Given the description of an element on the screen output the (x, y) to click on. 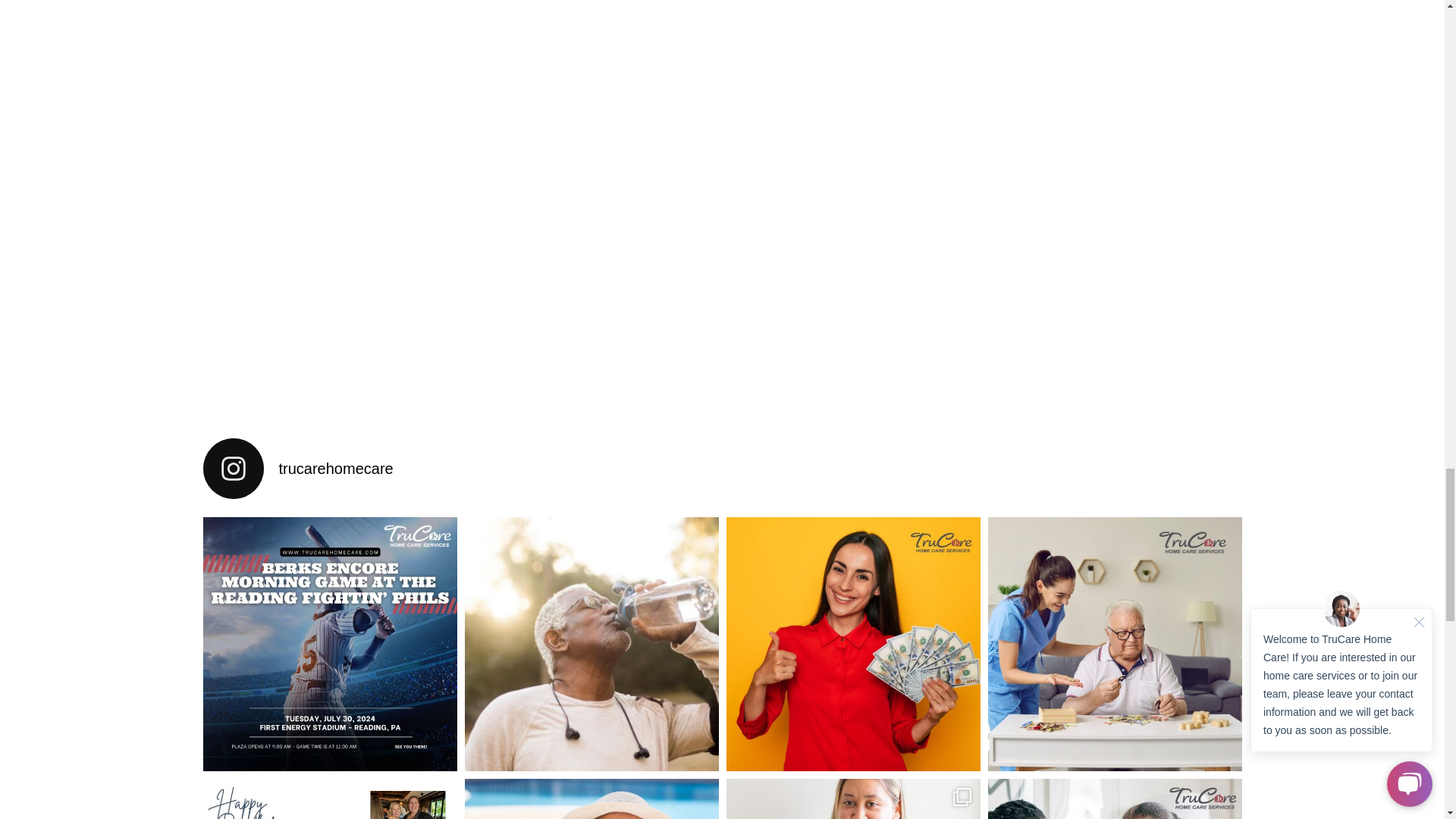
trucarehomecare (722, 468)
